Given the description of an element on the screen output the (x, y) to click on. 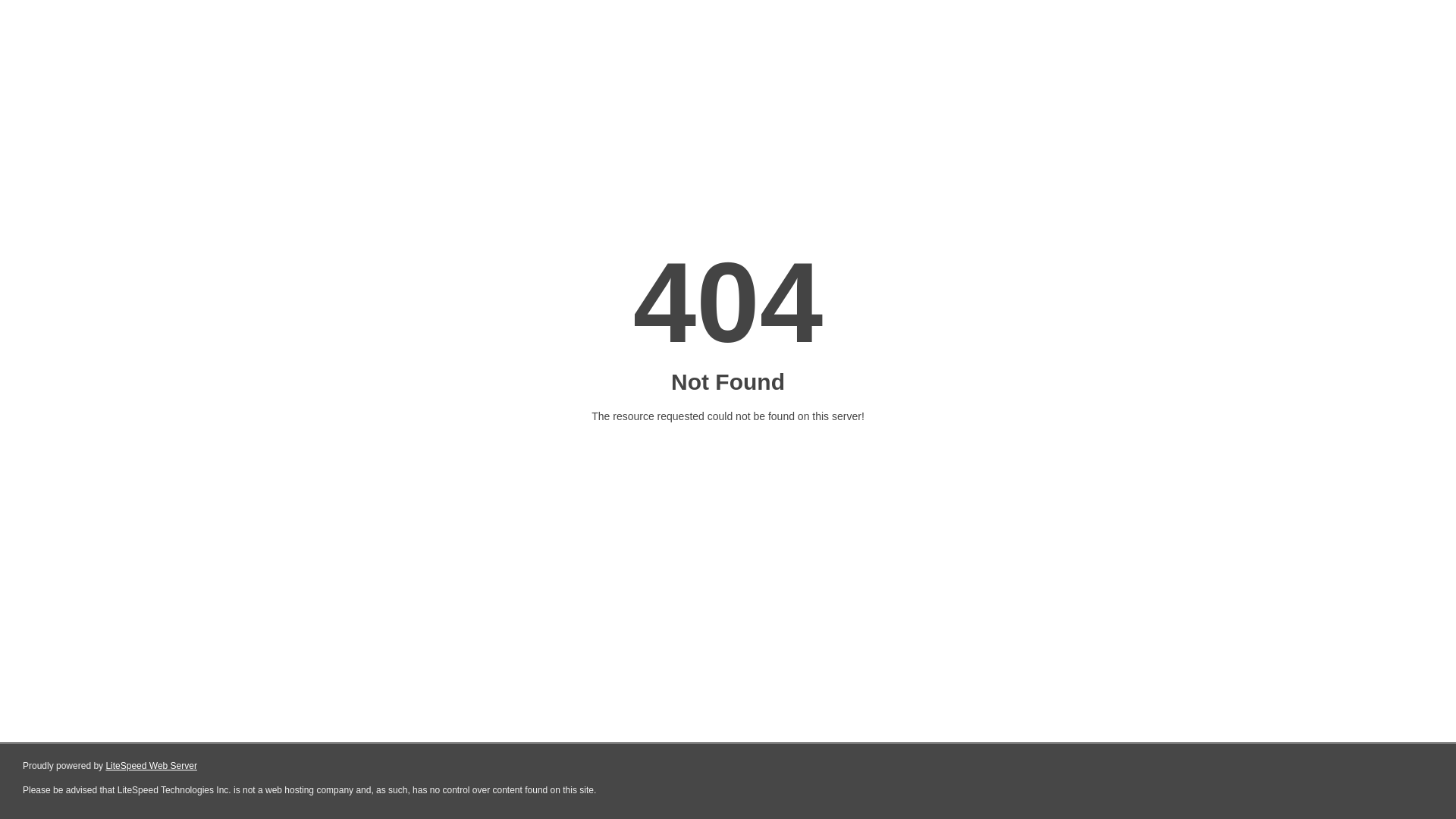
LiteSpeed Web Server Element type: text (151, 765)
